Given the description of an element on the screen output the (x, y) to click on. 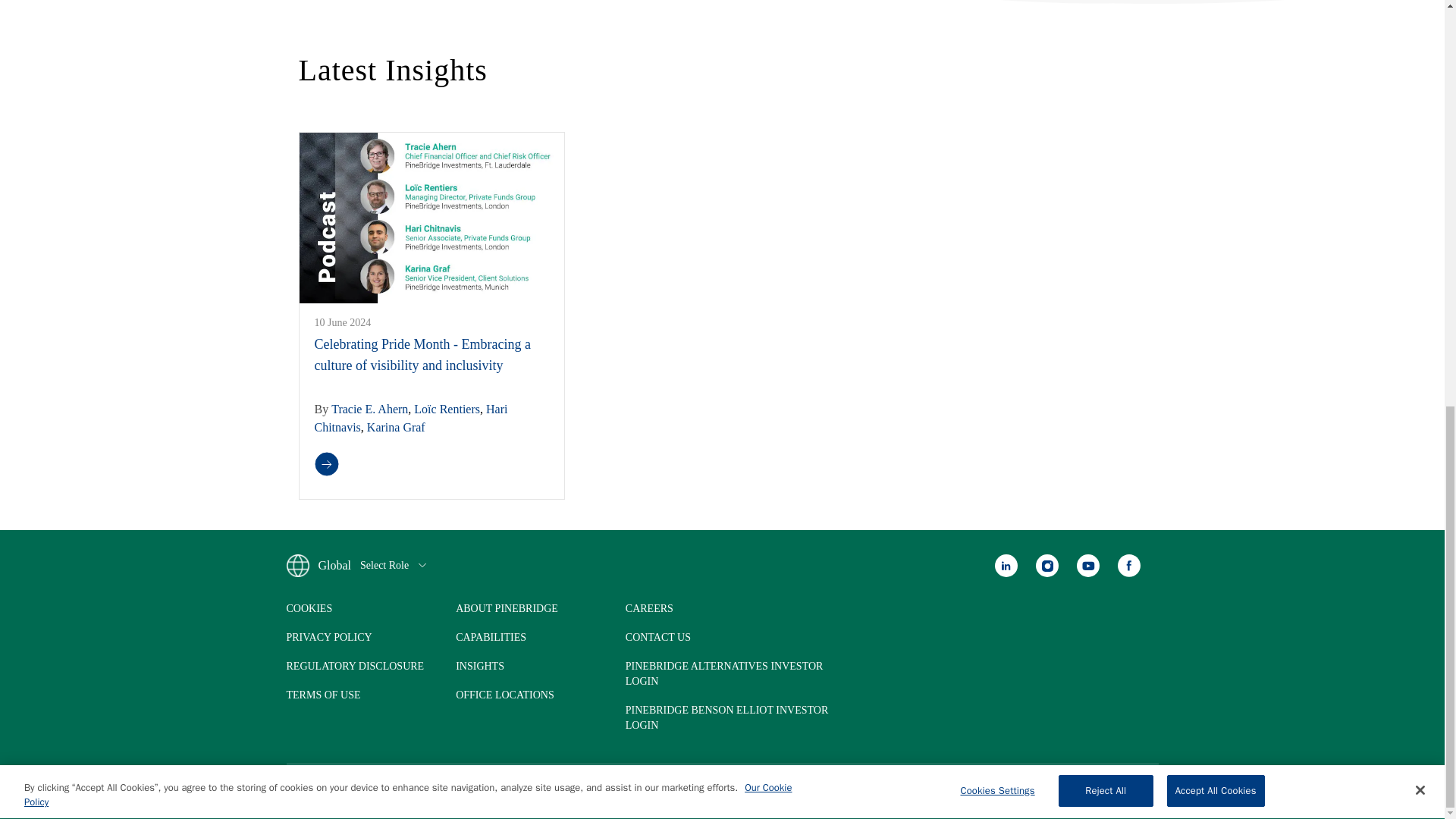
Tracie E. Ahern (369, 408)
Karina Graf (395, 427)
Hari Chitnavis (410, 418)
